Given the description of an element on the screen output the (x, y) to click on. 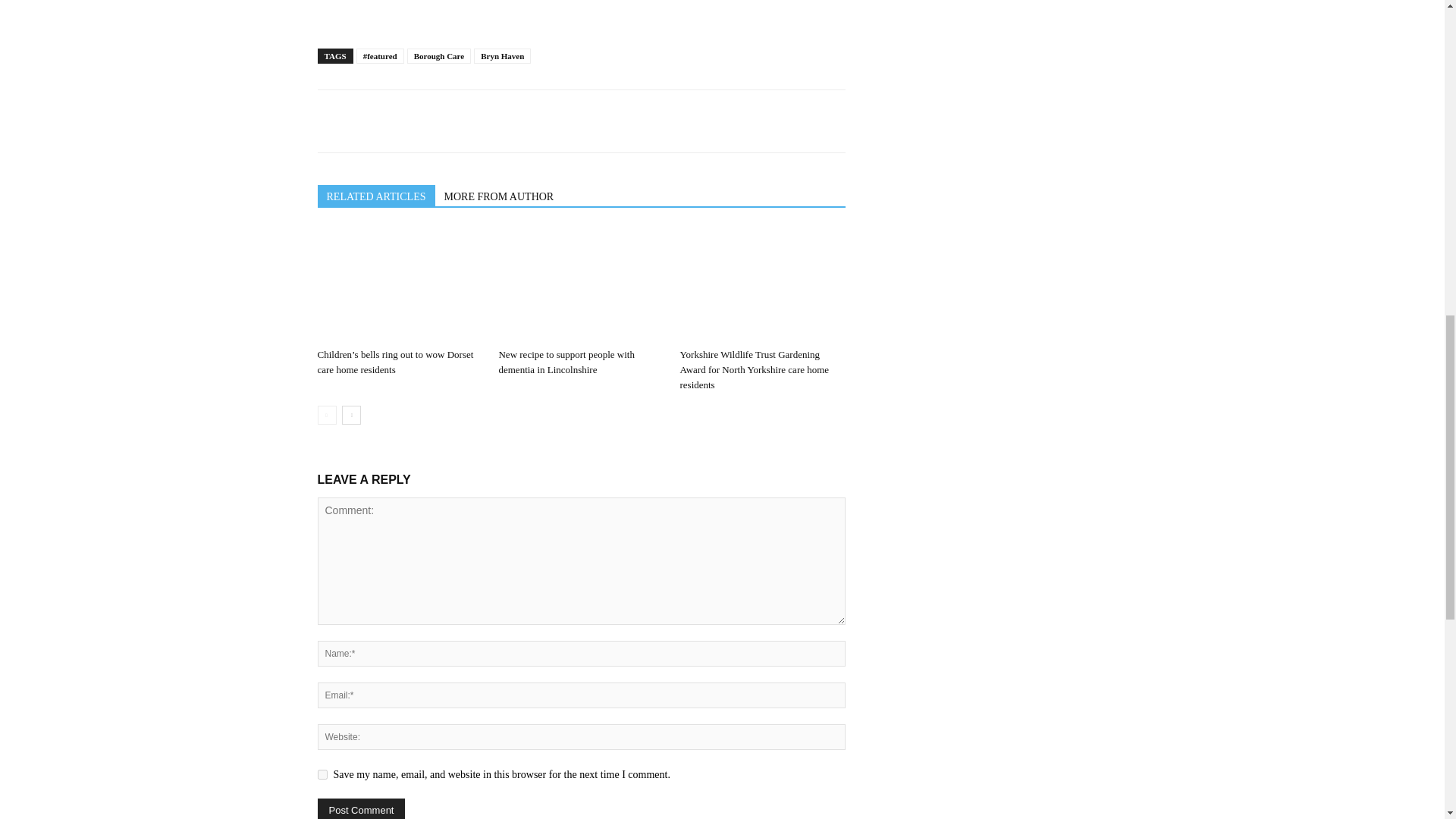
MORE FROM AUTHOR (499, 195)
RELATED ARTICLES (375, 195)
Bryn Haven (502, 55)
Post Comment (360, 808)
Borough Care (439, 55)
yes (321, 774)
